Given the description of an element on the screen output the (x, y) to click on. 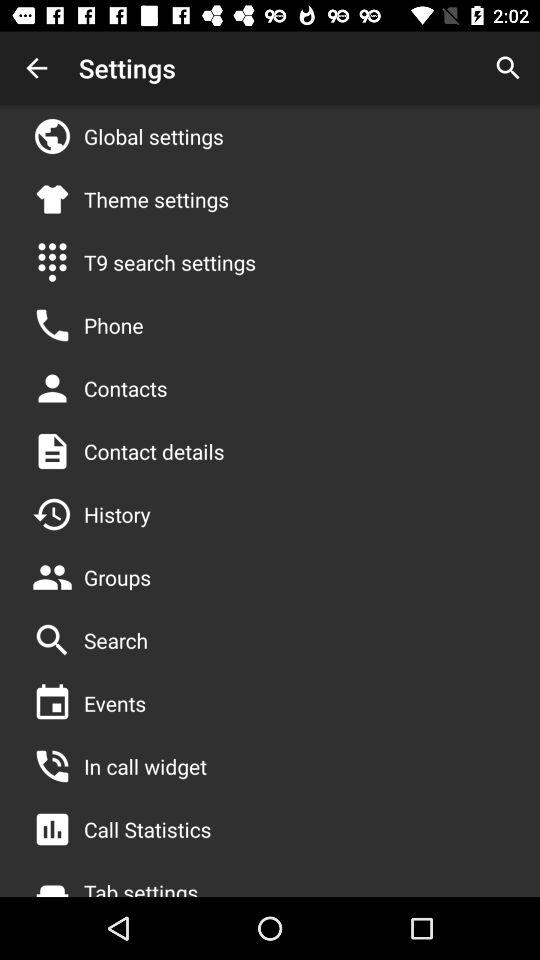
press the icon above the history app (154, 451)
